Given the description of an element on the screen output the (x, y) to click on. 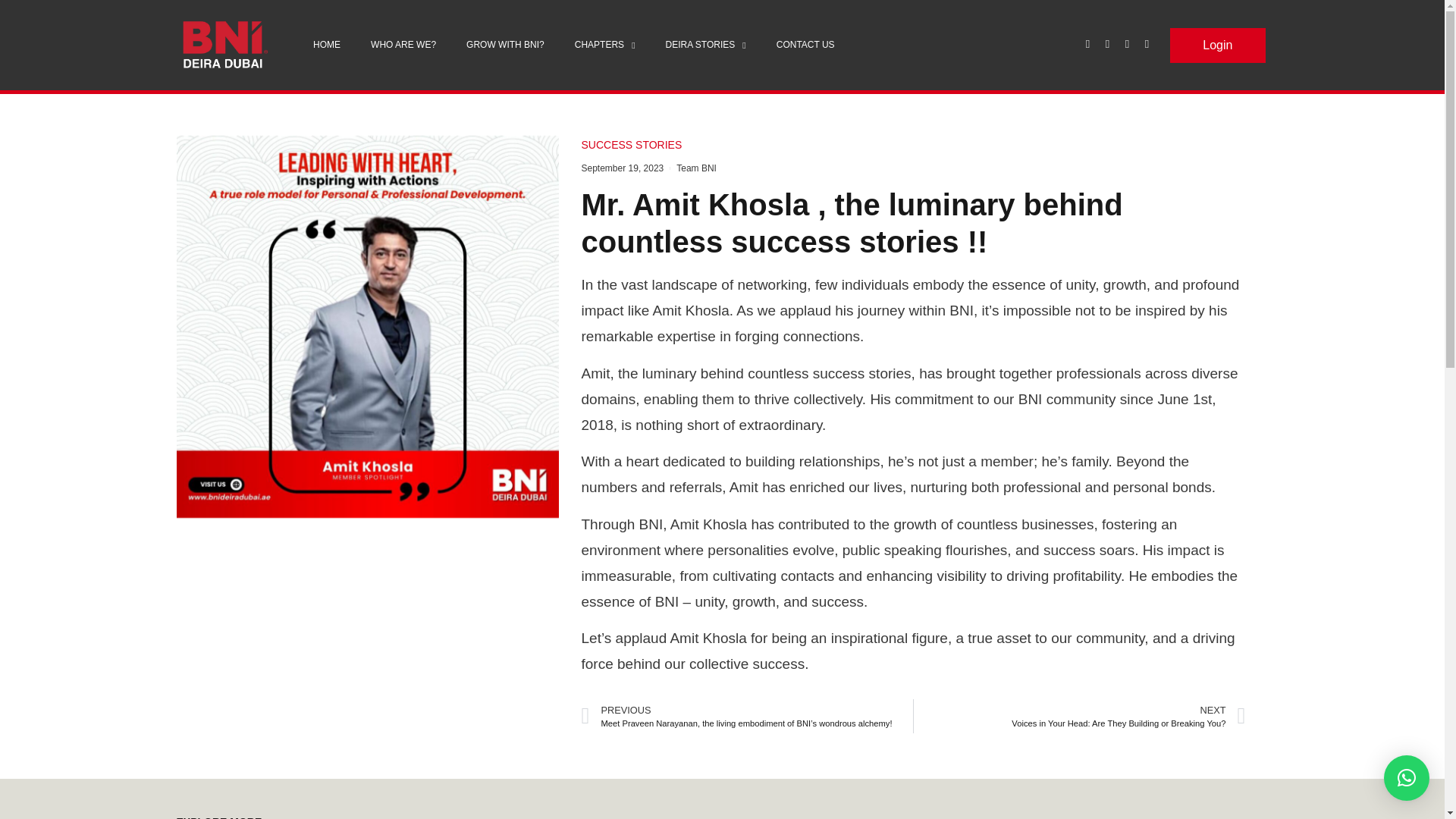
DEIRA STORIES (705, 45)
HOME (326, 45)
GROW WITH BNI? (505, 45)
WHO ARE WE? (403, 45)
CONTACT US (805, 45)
CHAPTERS (604, 45)
